Given the description of an element on the screen output the (x, y) to click on. 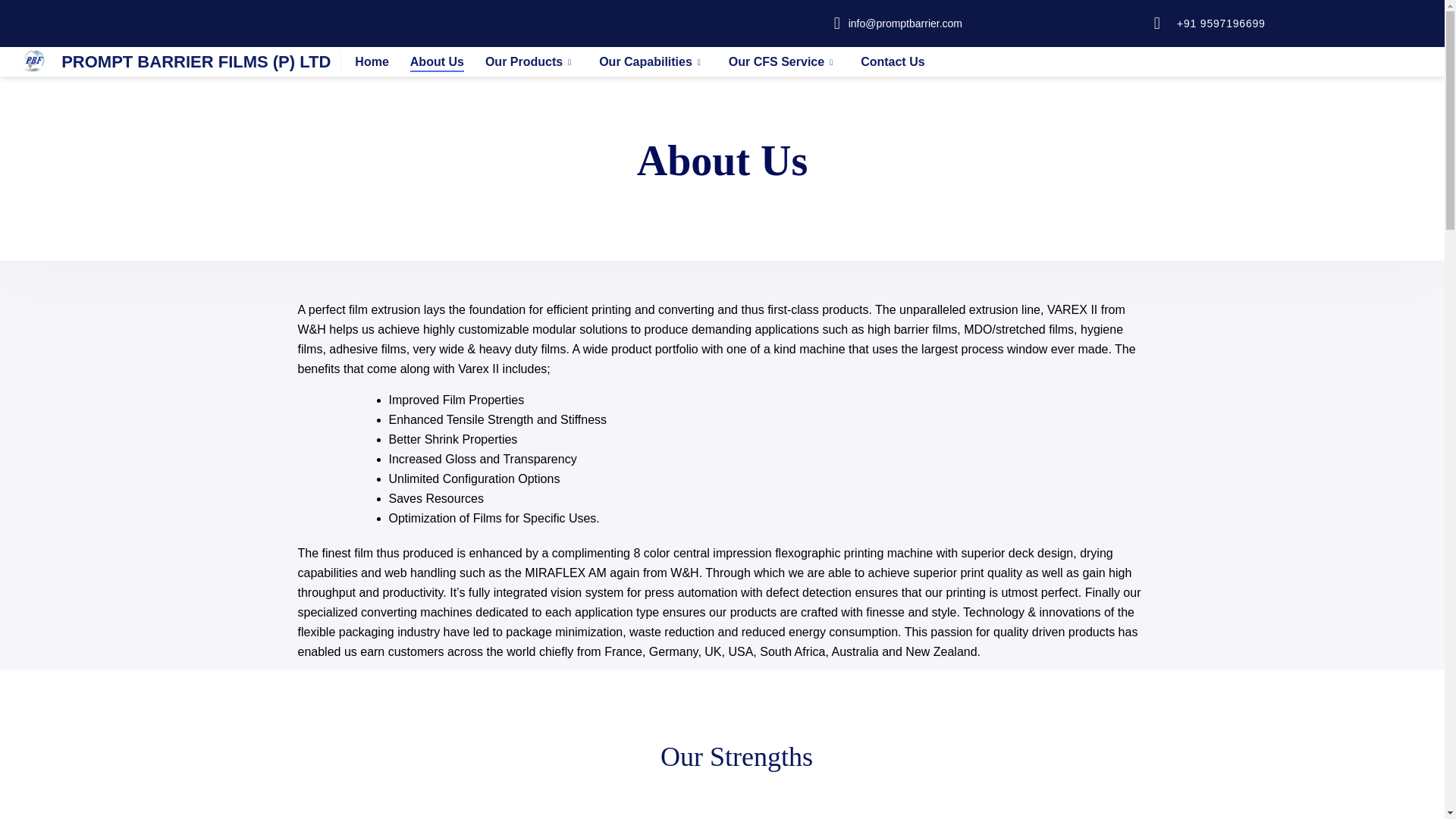
Contact Us (892, 62)
Our Capabilities (645, 62)
Our Products (523, 62)
Our CFS Service (776, 62)
About Us (437, 62)
Home (371, 62)
